Given the description of an element on the screen output the (x, y) to click on. 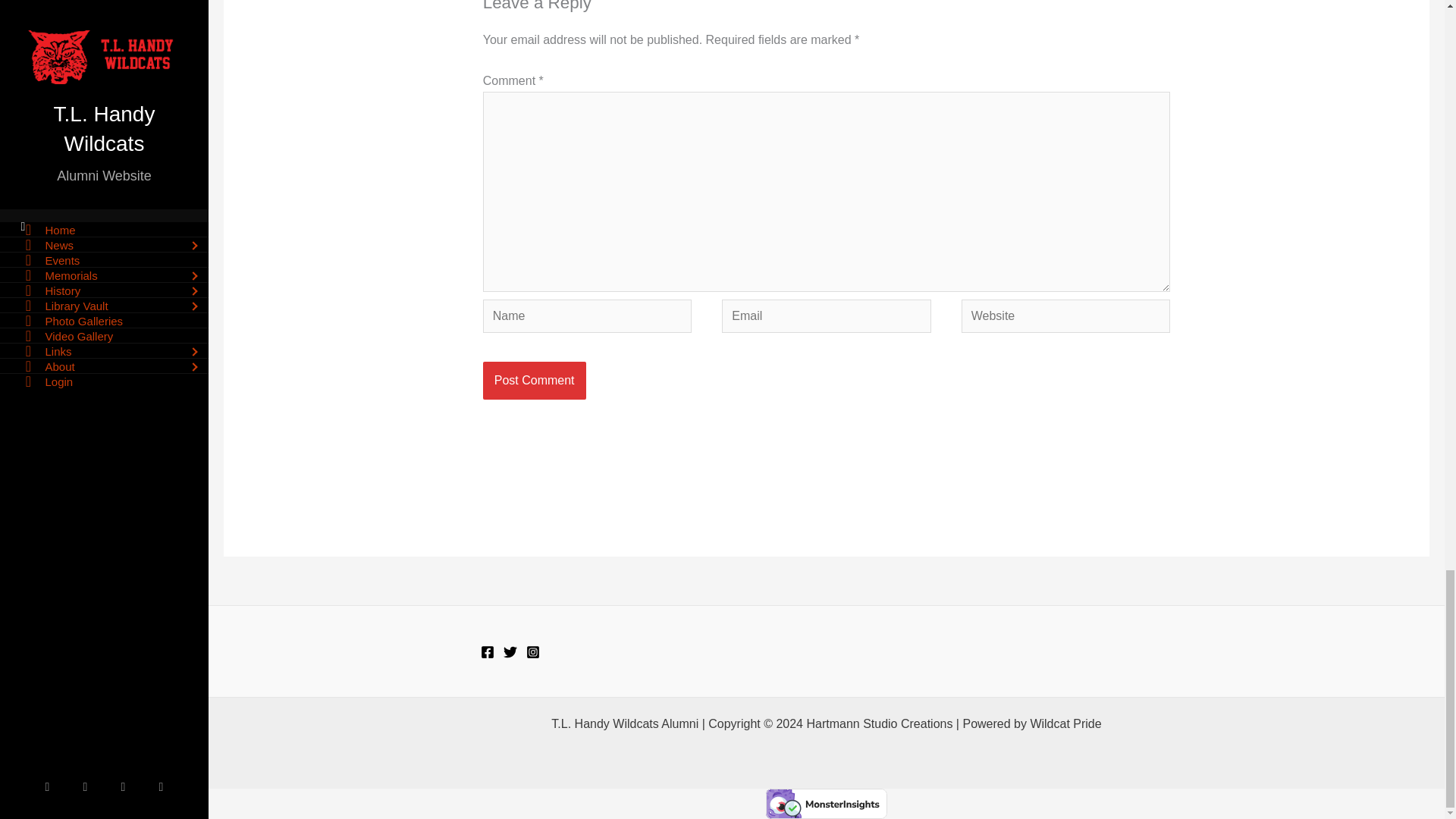
Post Comment (534, 380)
